Given the description of an element on the screen output the (x, y) to click on. 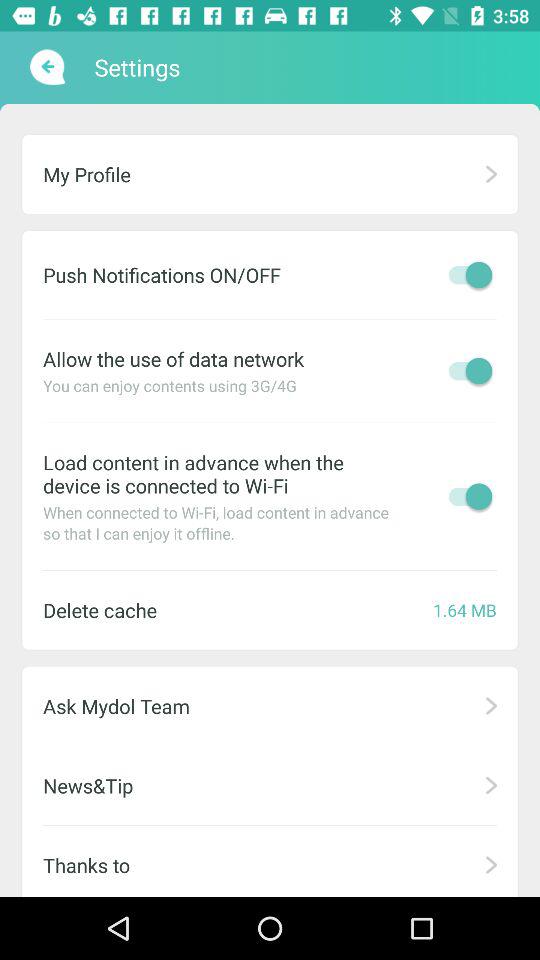
select the icon to the left of the settings item (45, 67)
